Given the description of an element on the screen output the (x, y) to click on. 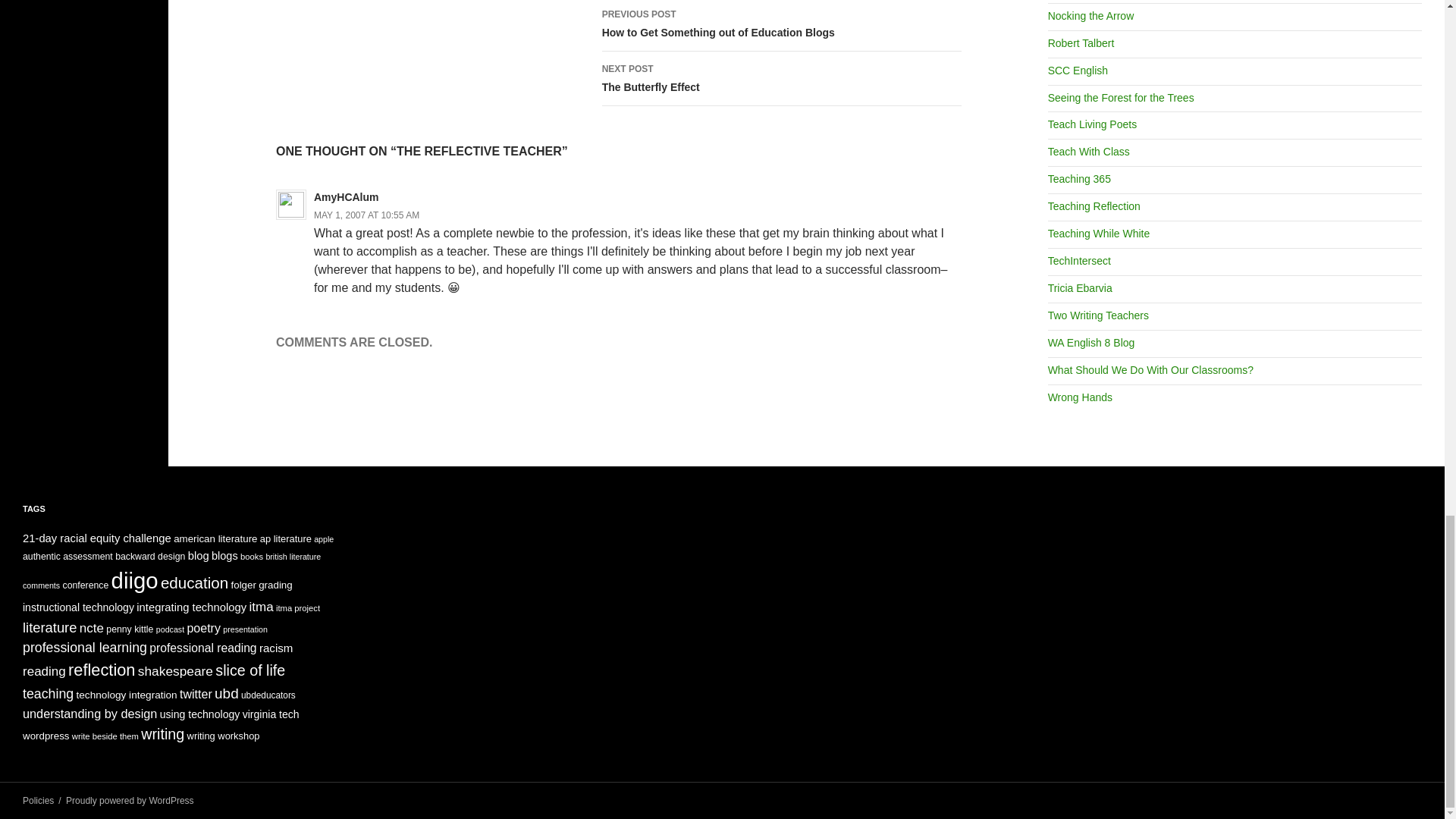
AmyHCAlum (781, 78)
MAY 1, 2007 AT 10:55 AM (781, 25)
